Given the description of an element on the screen output the (x, y) to click on. 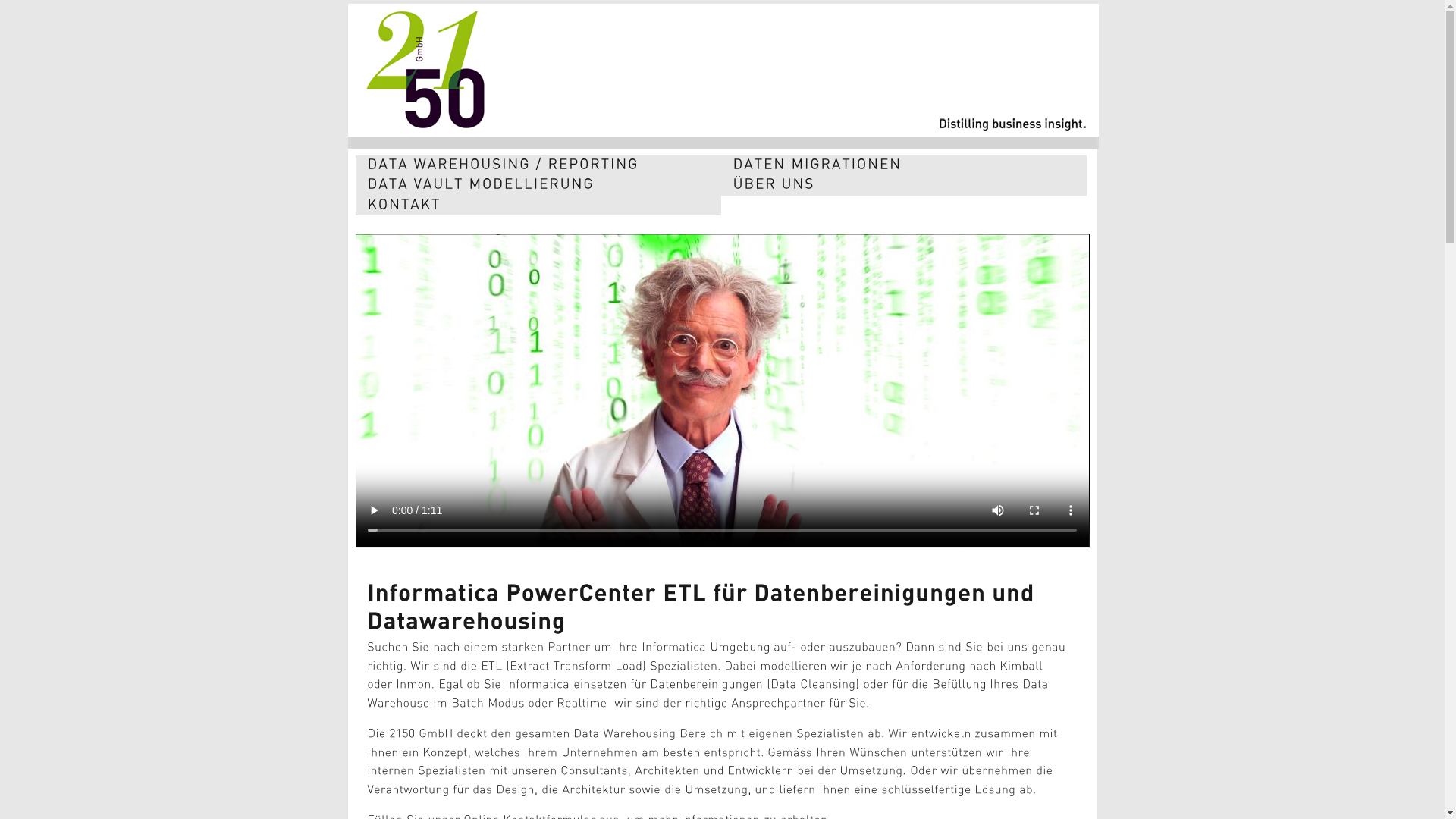
2150 GmbH Element type: hover (730, 136)
967 Element type: hover (721, 390)
